Given the description of an element on the screen output the (x, y) to click on. 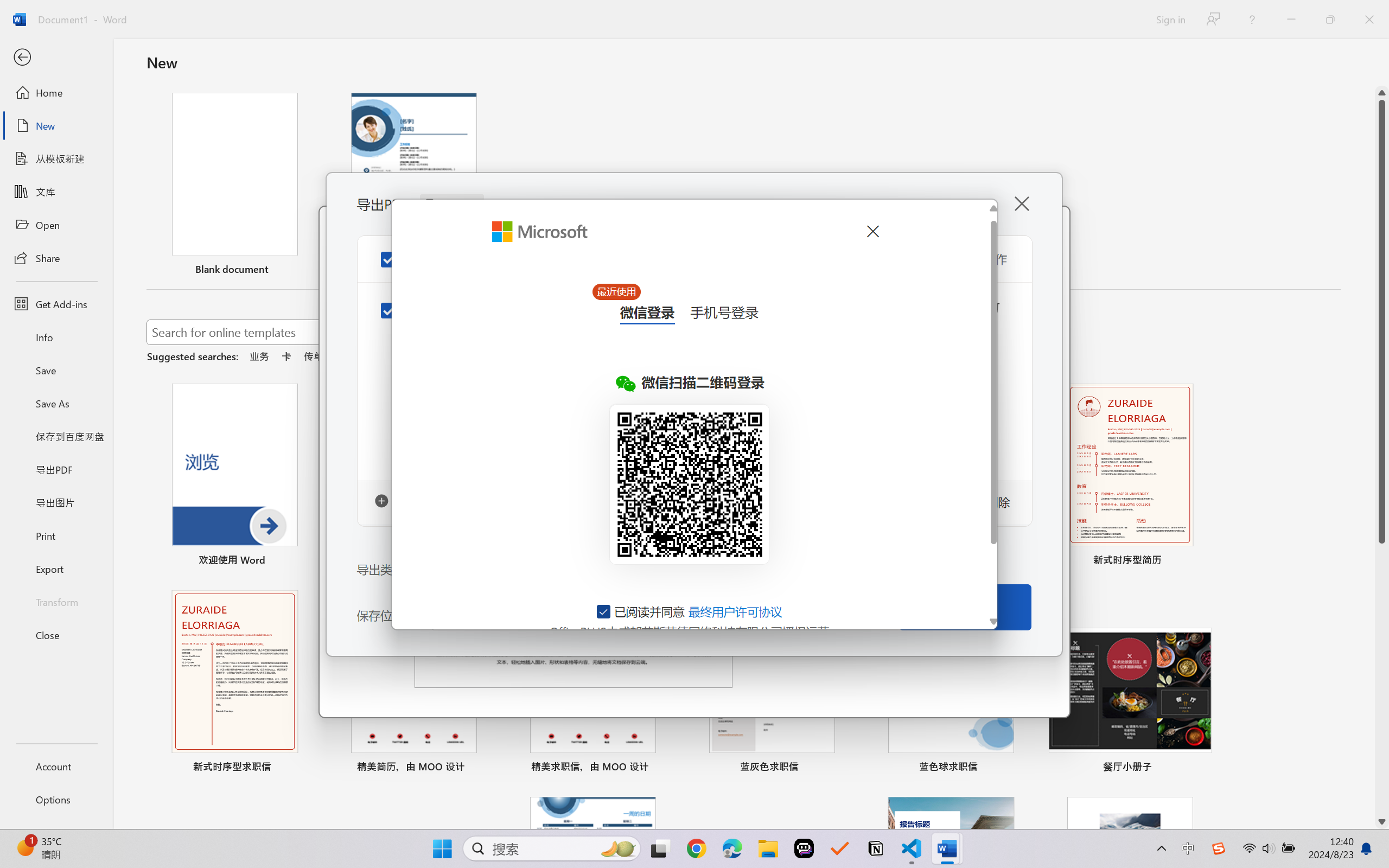
Page down (1382, 679)
Get Add-ins (56, 303)
Transform (56, 601)
